Given the description of an element on the screen output the (x, y) to click on. 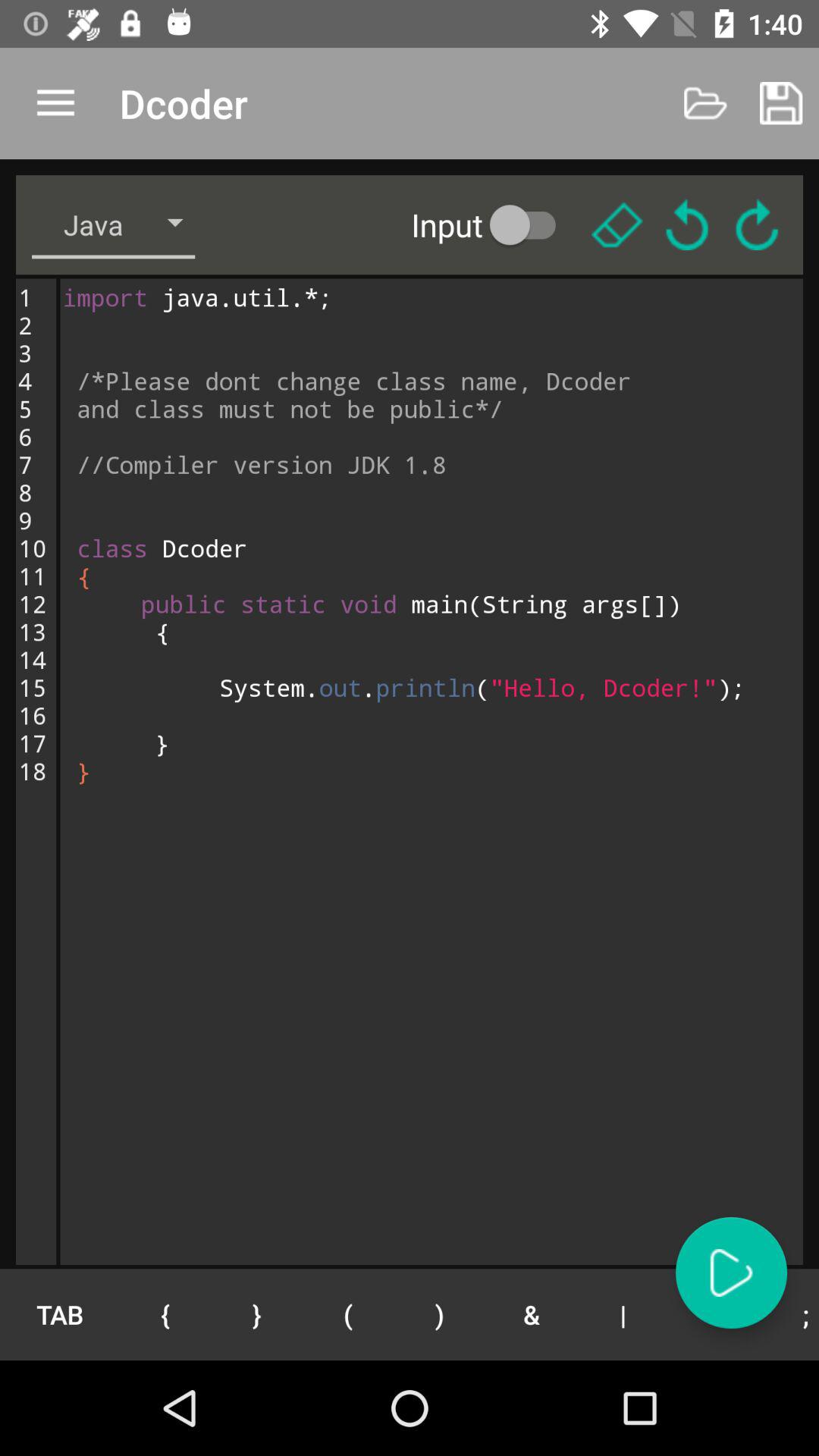
click on the reload button (686, 224)
